Given the description of an element on the screen output the (x, y) to click on. 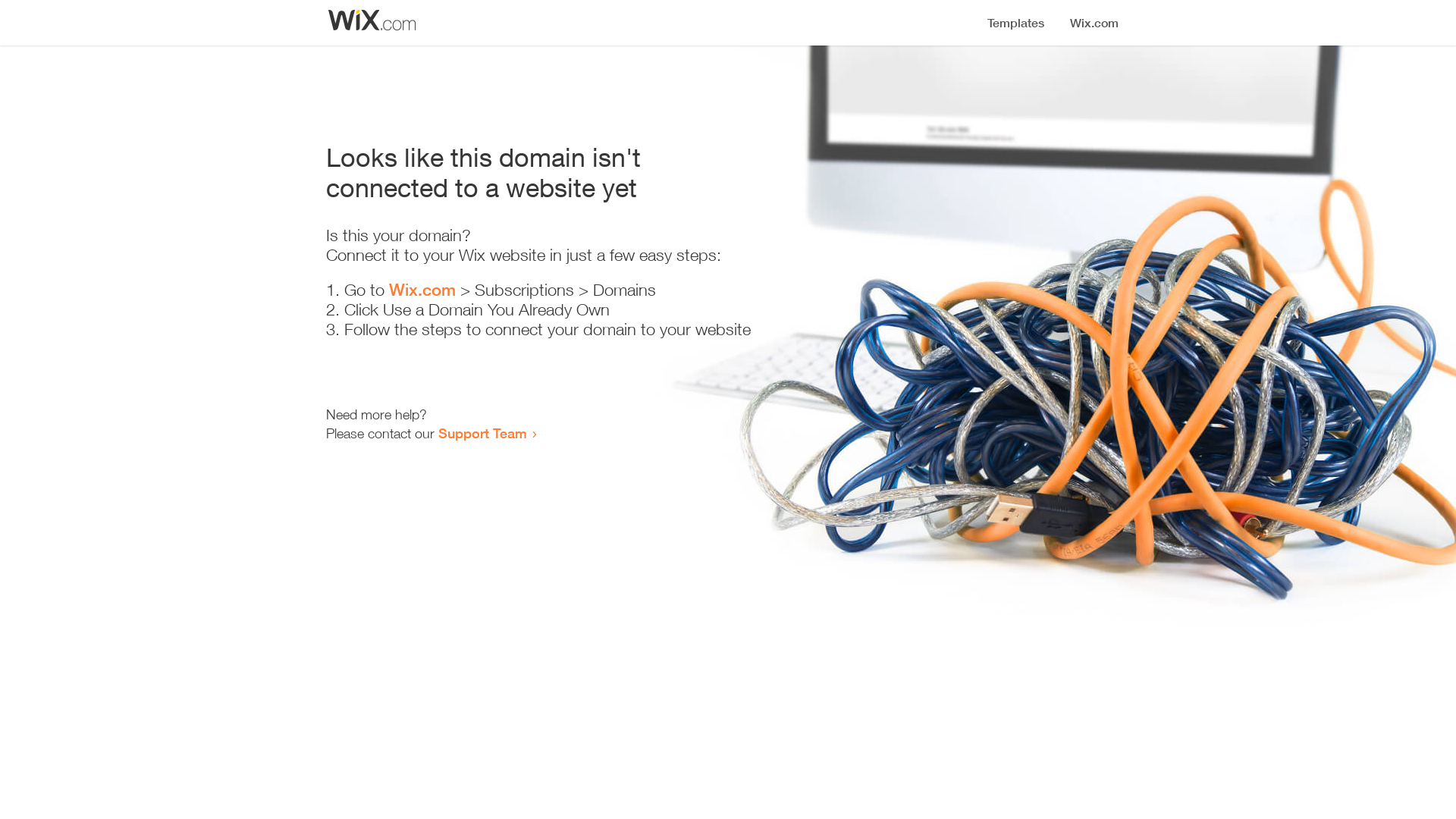
Wix.com Element type: text (422, 289)
Support Team Element type: text (482, 432)
